Given the description of an element on the screen output the (x, y) to click on. 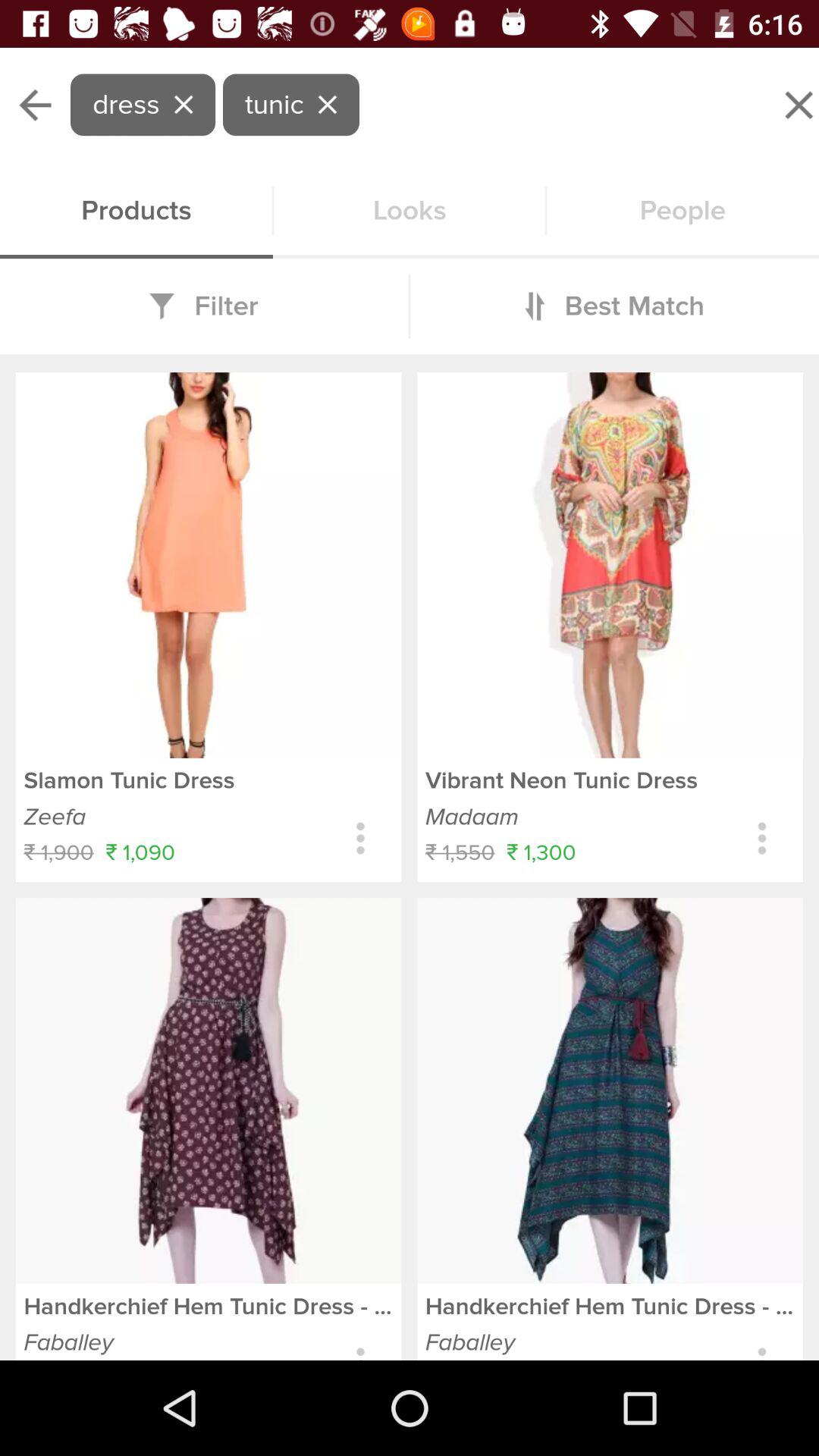
share the article (360, 838)
